Given the description of an element on the screen output the (x, y) to click on. 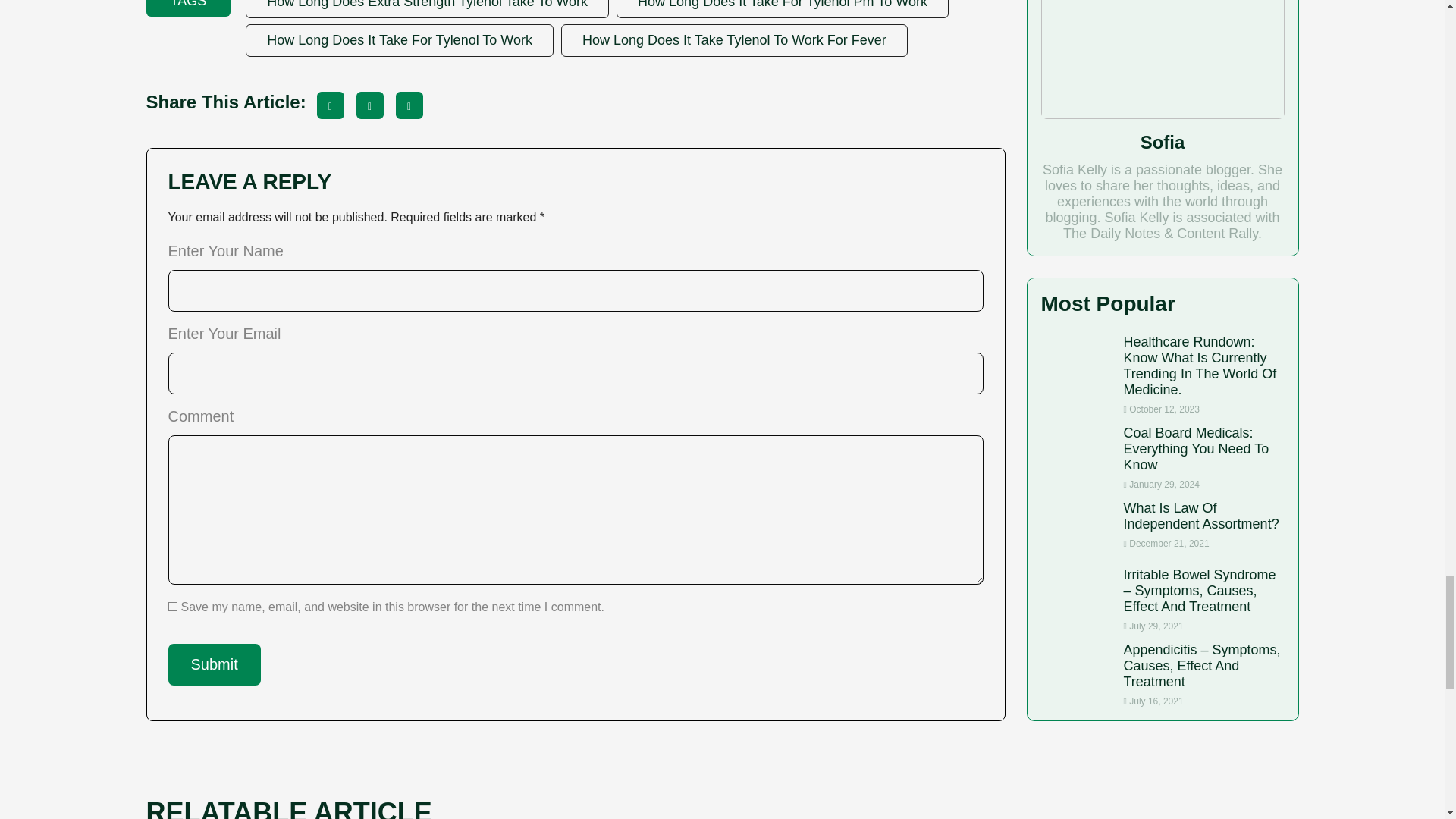
yes (172, 605)
Submit (214, 664)
